Given the description of an element on the screen output the (x, y) to click on. 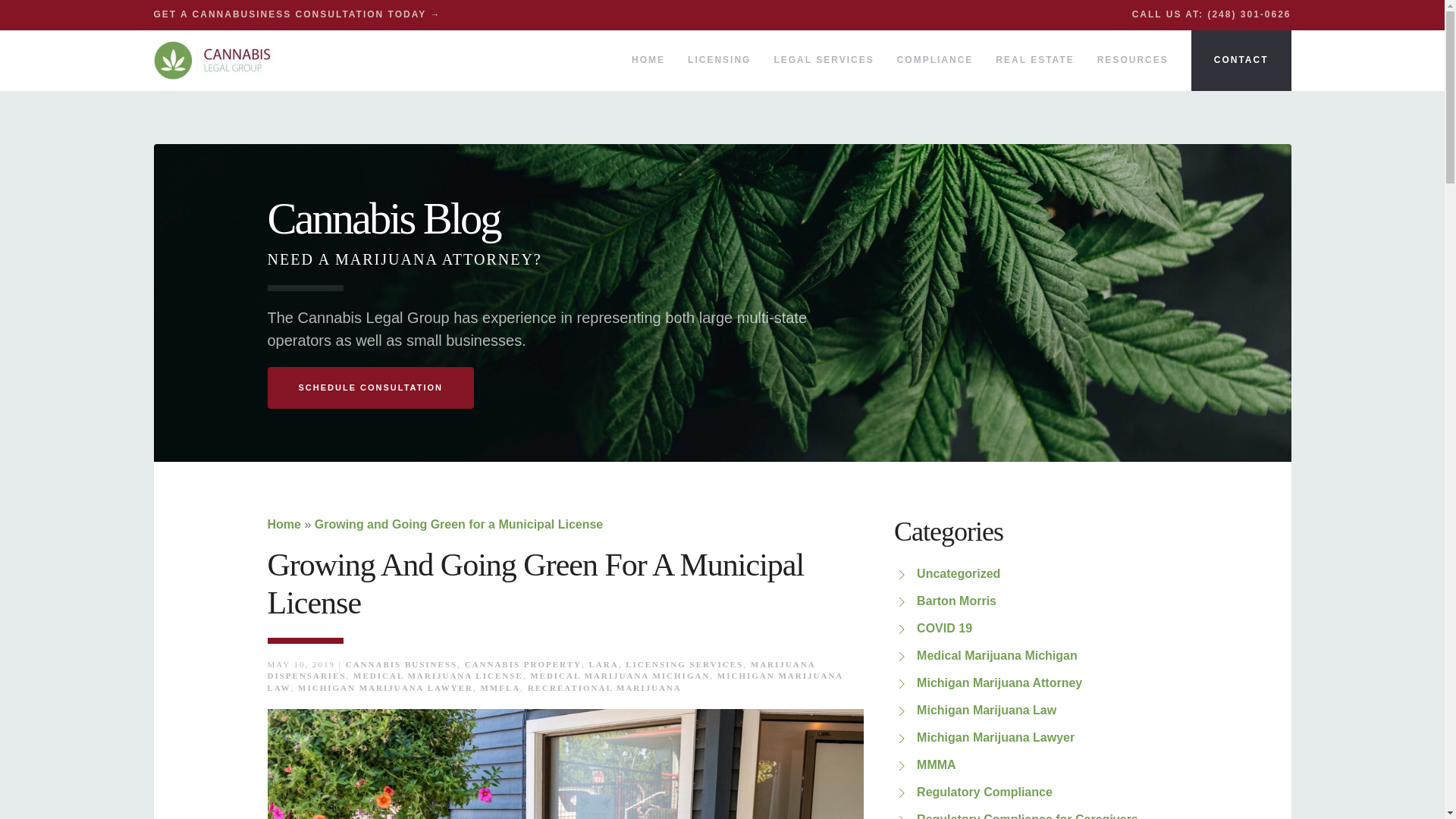
LICENSING (719, 60)
Growing and Going Green for a Municipal License (459, 523)
Home (282, 523)
